Given the description of an element on the screen output the (x, y) to click on. 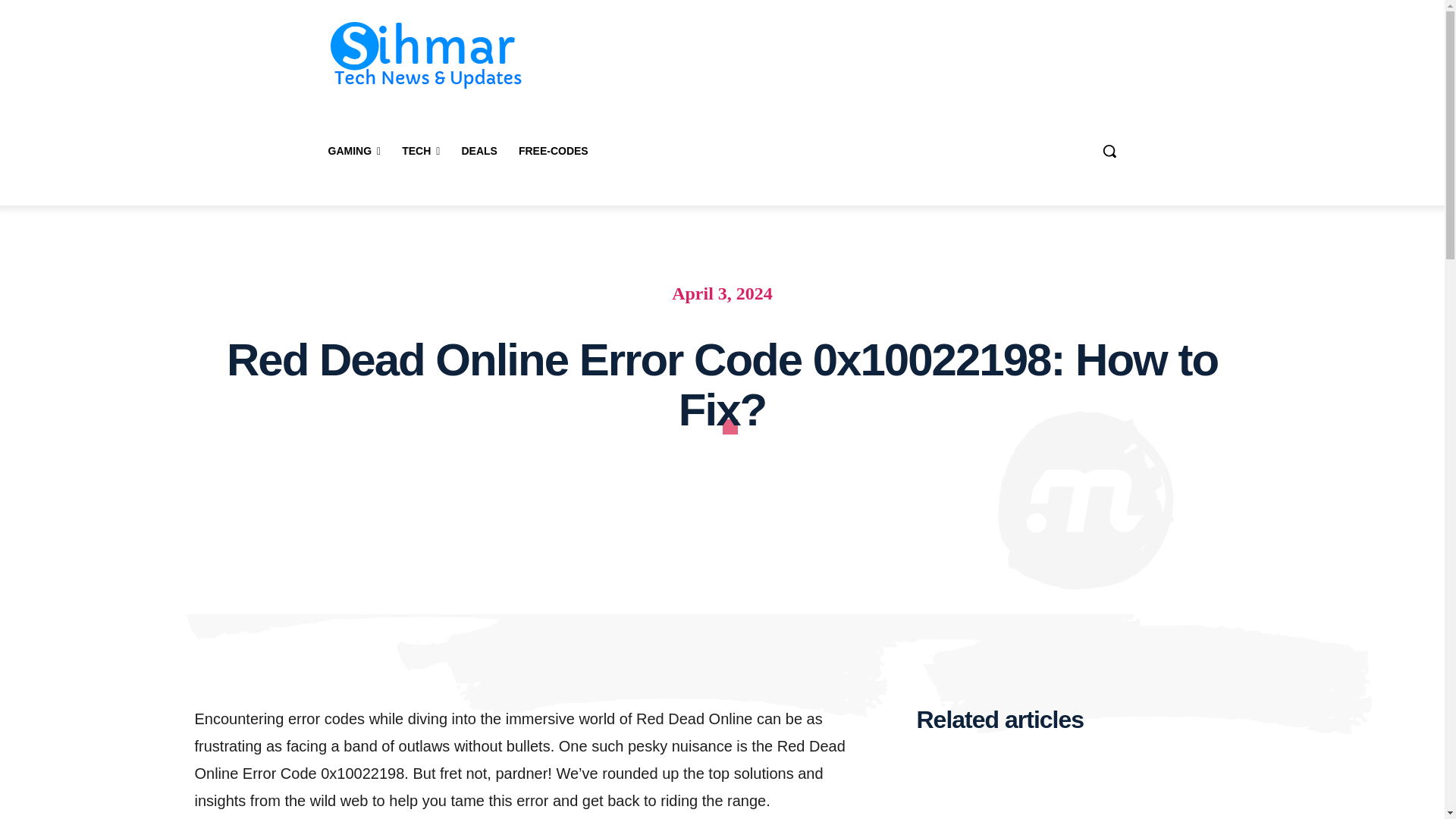
TECH (420, 150)
GAMING (354, 150)
sihmar.com (426, 55)
FREE-CODES (553, 150)
DEALS (477, 150)
